Given the description of an element on the screen output the (x, y) to click on. 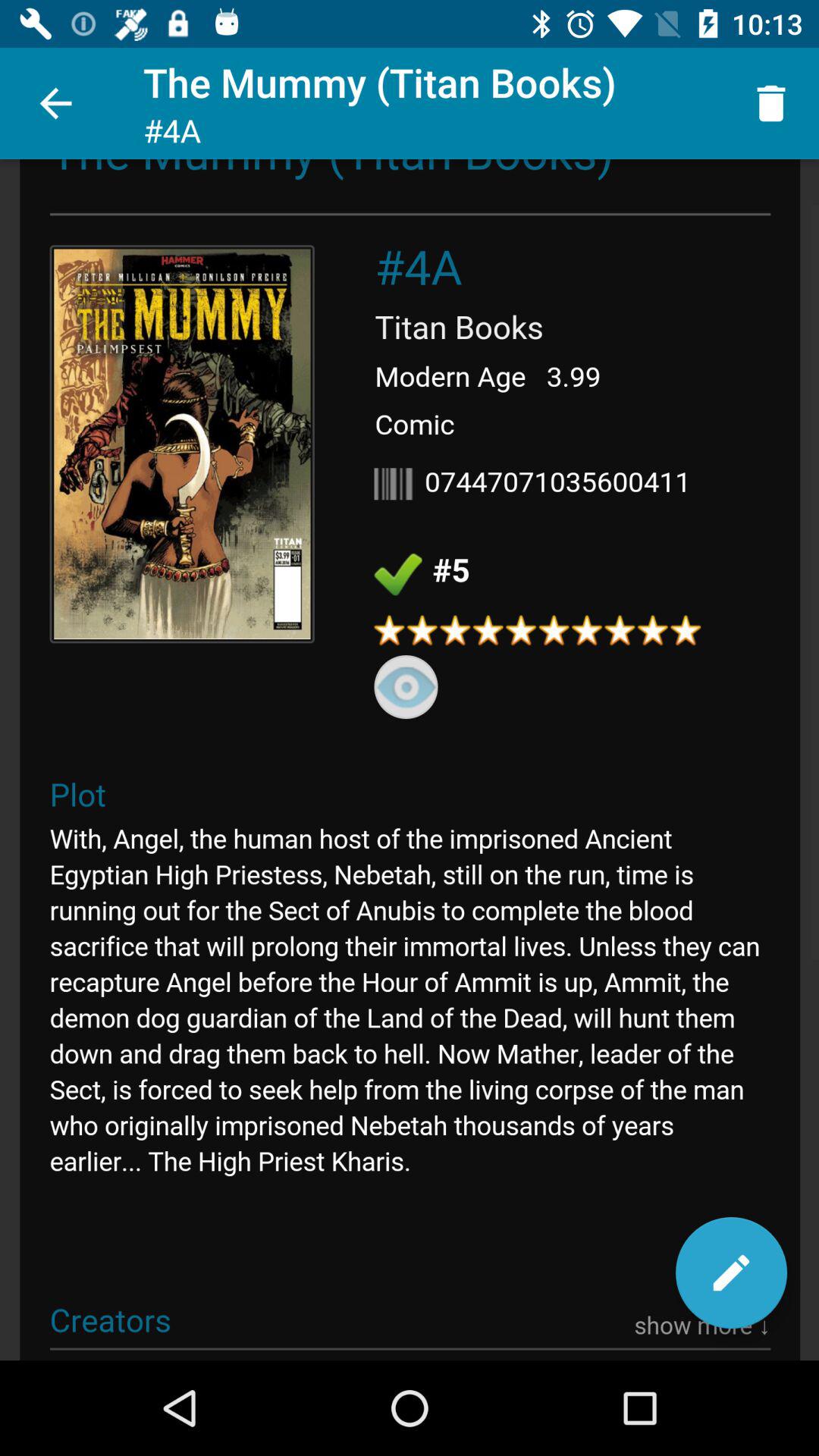
open icon to the right of the mummy titan (771, 103)
